Given the description of an element on the screen output the (x, y) to click on. 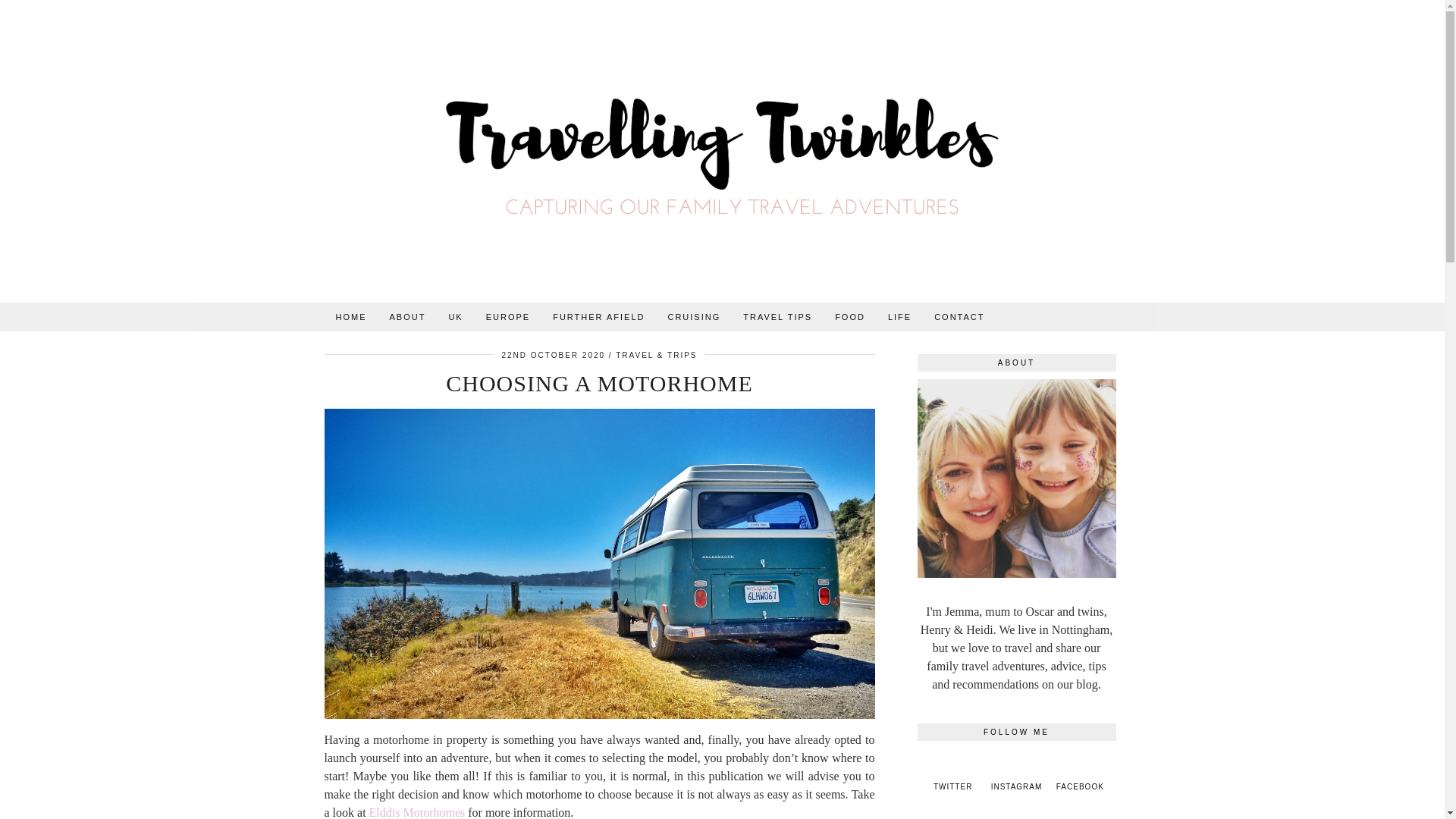
ABOUT (406, 316)
HOME (351, 316)
